Given the description of an element on the screen output the (x, y) to click on. 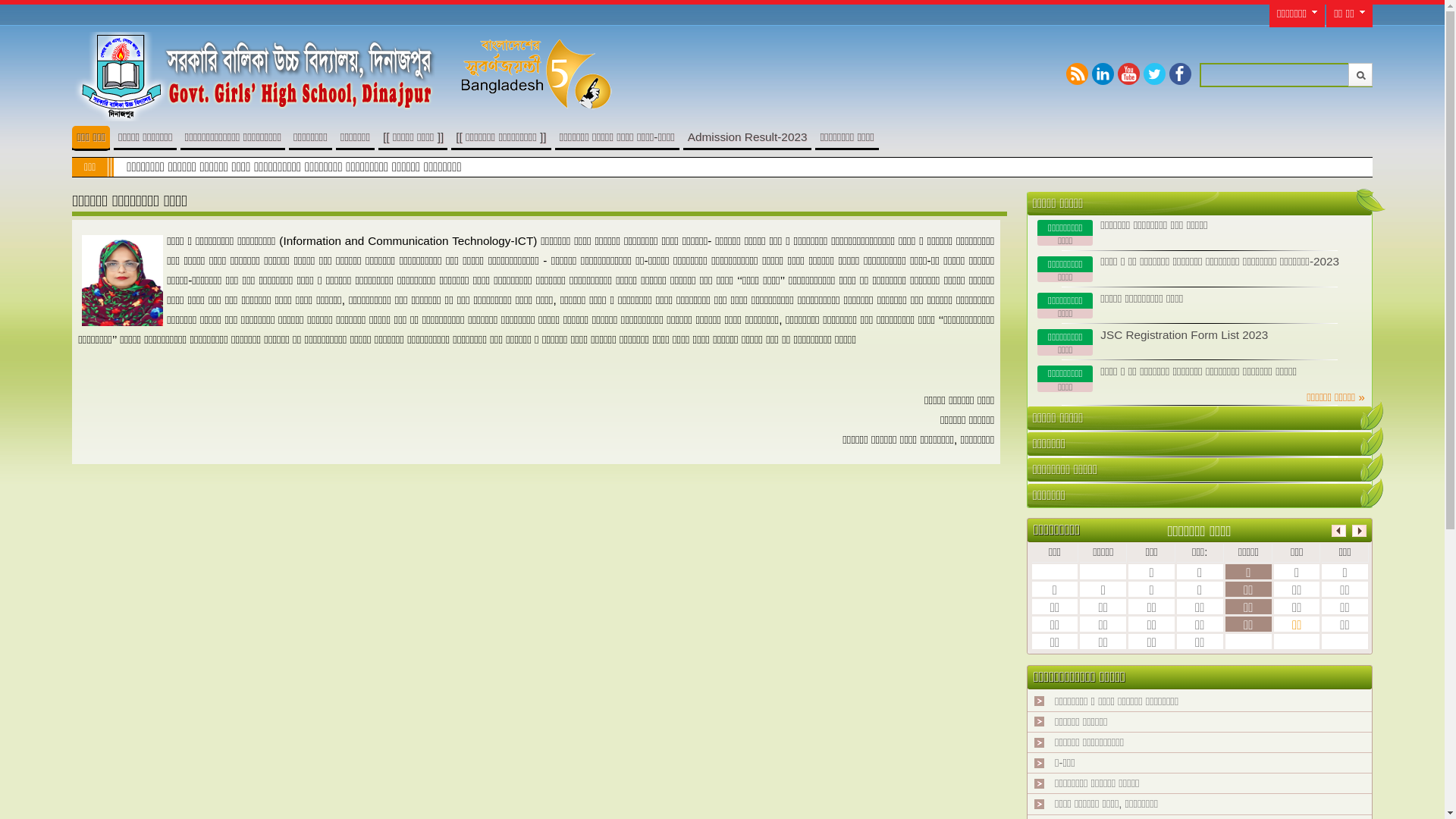
  Element type: text (1371, 466)
  Element type: text (1367, 203)
  Element type: text (1371, 414)
  Element type: text (1371, 440)
Submit Element type: text (1360, 74)
Admission Result-2023 Element type: text (747, 136)
  Element type: text (1371, 491)
